Given the description of an element on the screen output the (x, y) to click on. 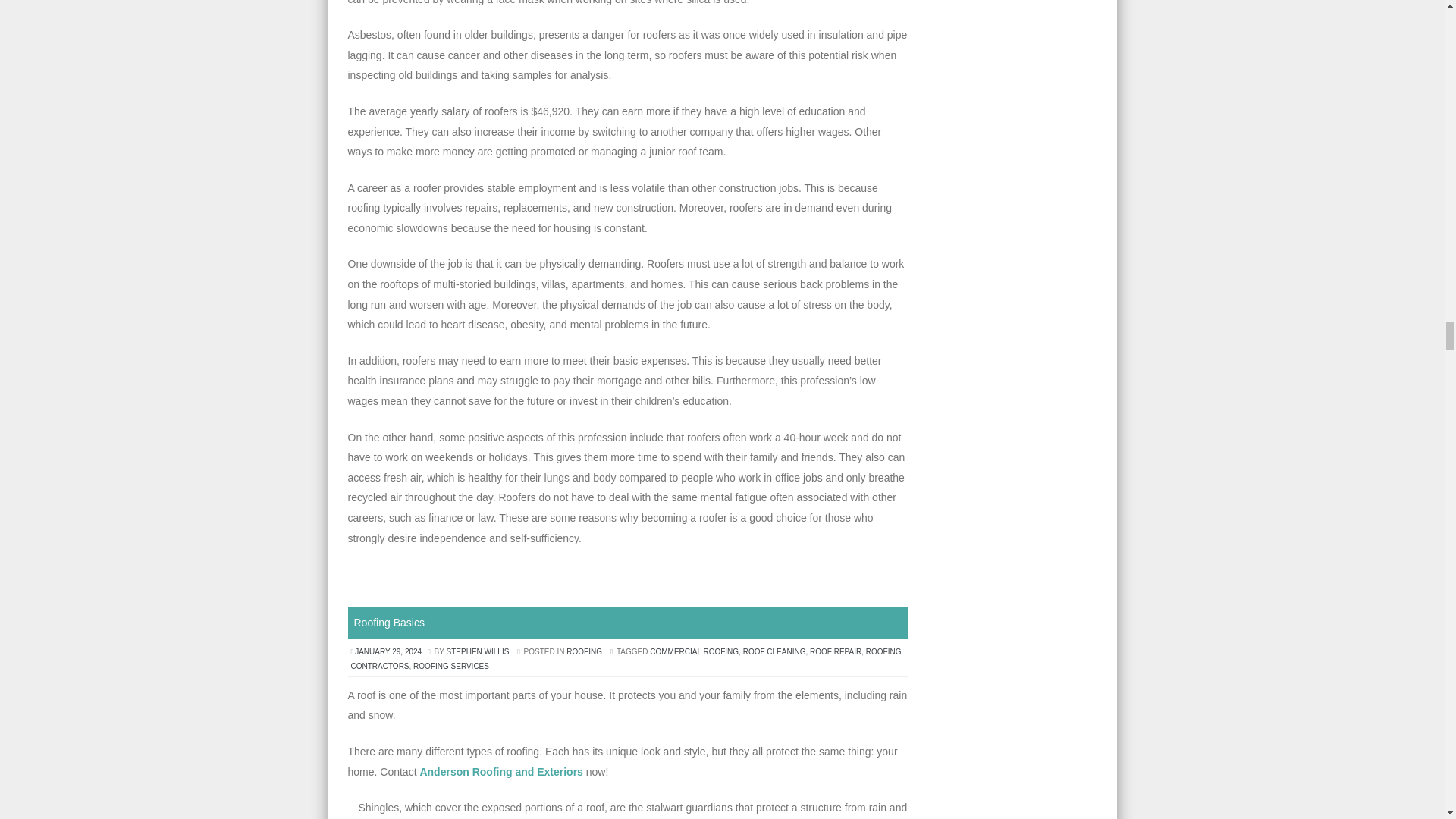
11:22 am (389, 651)
Permalink to Roofing Basics (388, 622)
View all posts by Stephen Willis (477, 651)
